Given the description of an element on the screen output the (x, y) to click on. 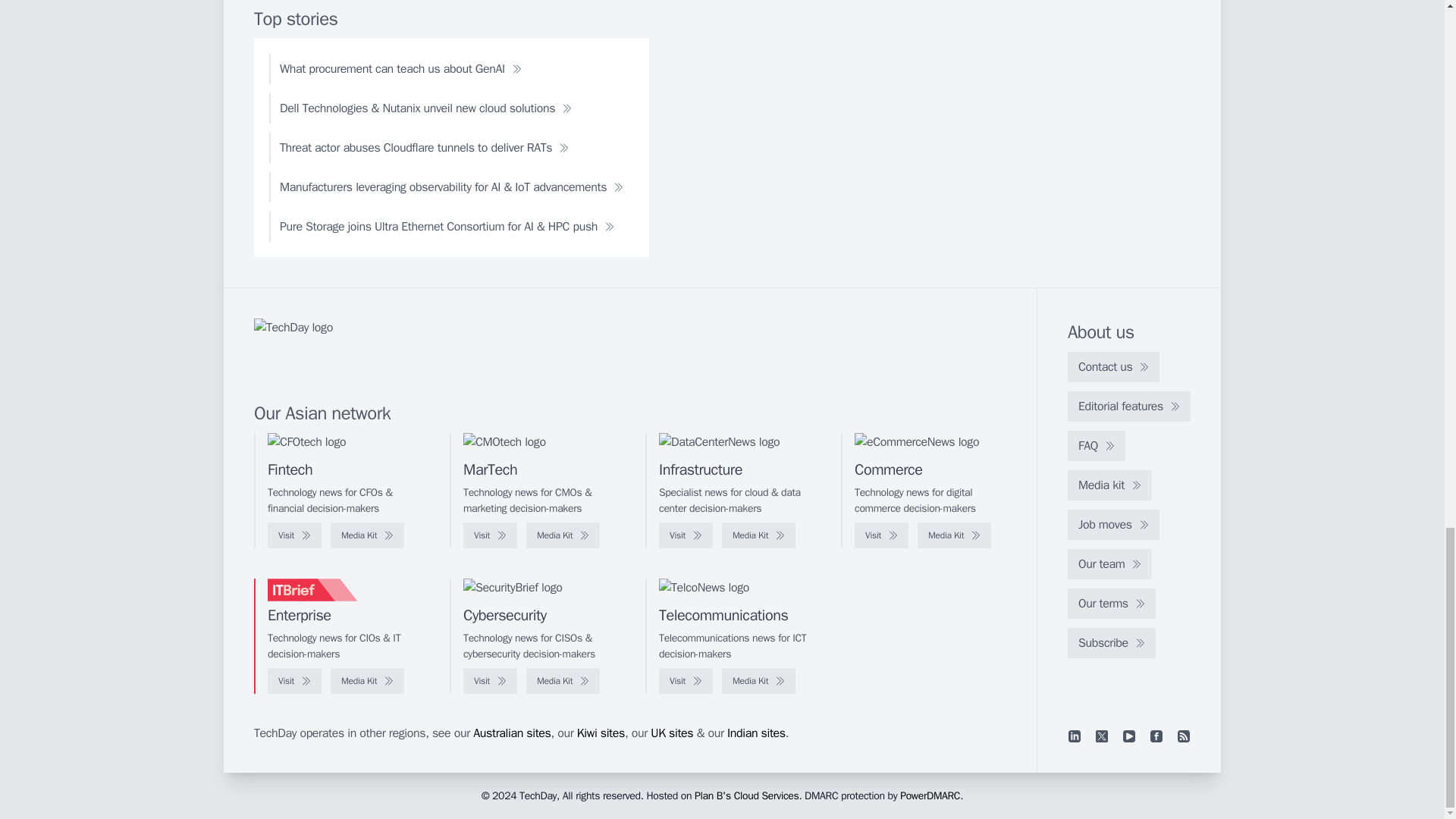
Visit (489, 534)
Media Kit (367, 534)
Visit (881, 534)
Media Kit (954, 534)
Threat actor abuses Cloudflare tunnels to deliver RATs (424, 147)
What procurement can teach us about GenAI (400, 69)
Visit (686, 534)
Media Kit (562, 534)
Media Kit (758, 534)
Visit (294, 534)
